Given the description of an element on the screen output the (x, y) to click on. 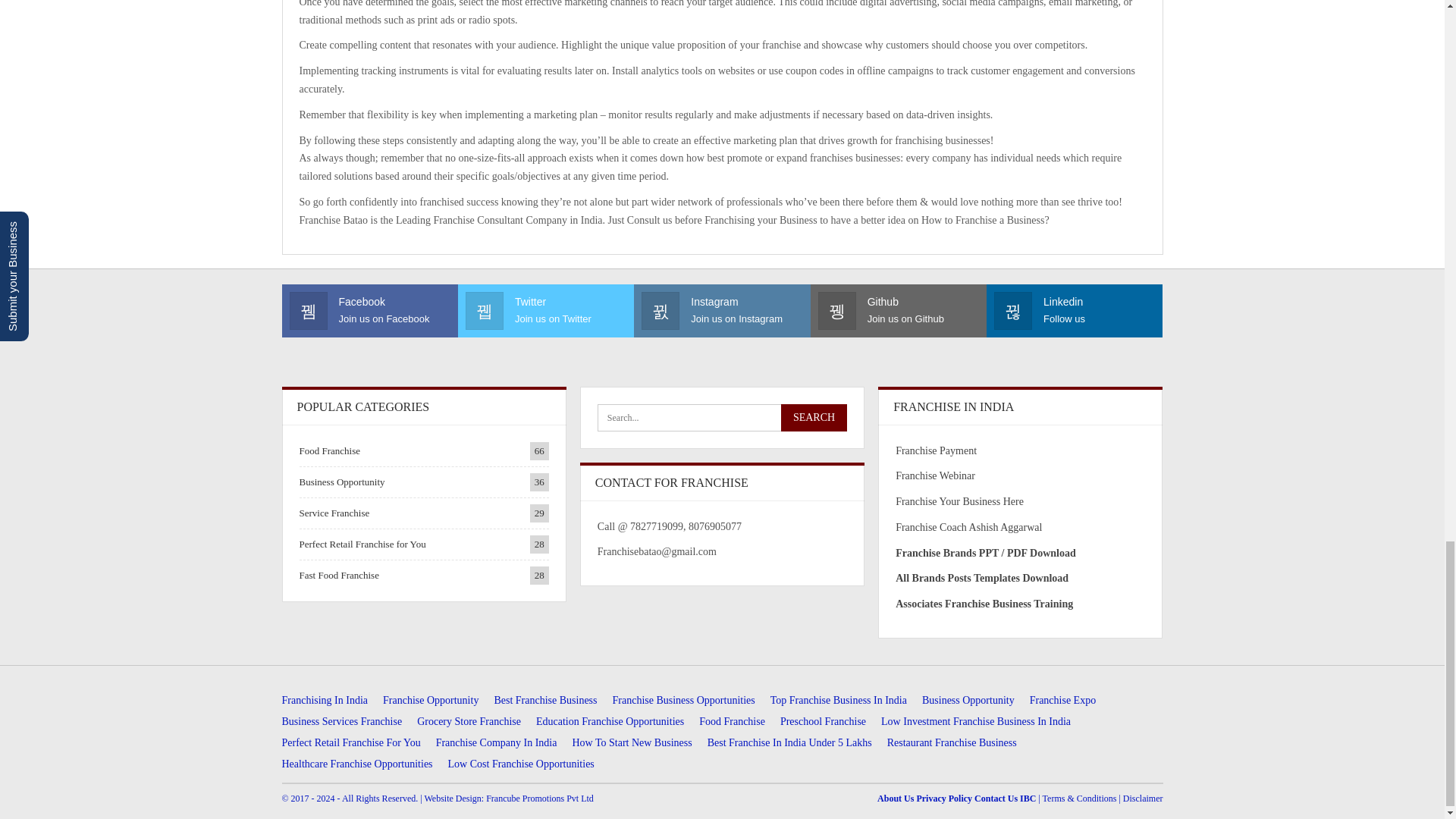
Search for: (721, 417)
Search (813, 417)
Search (813, 417)
